Given the description of an element on the screen output the (x, y) to click on. 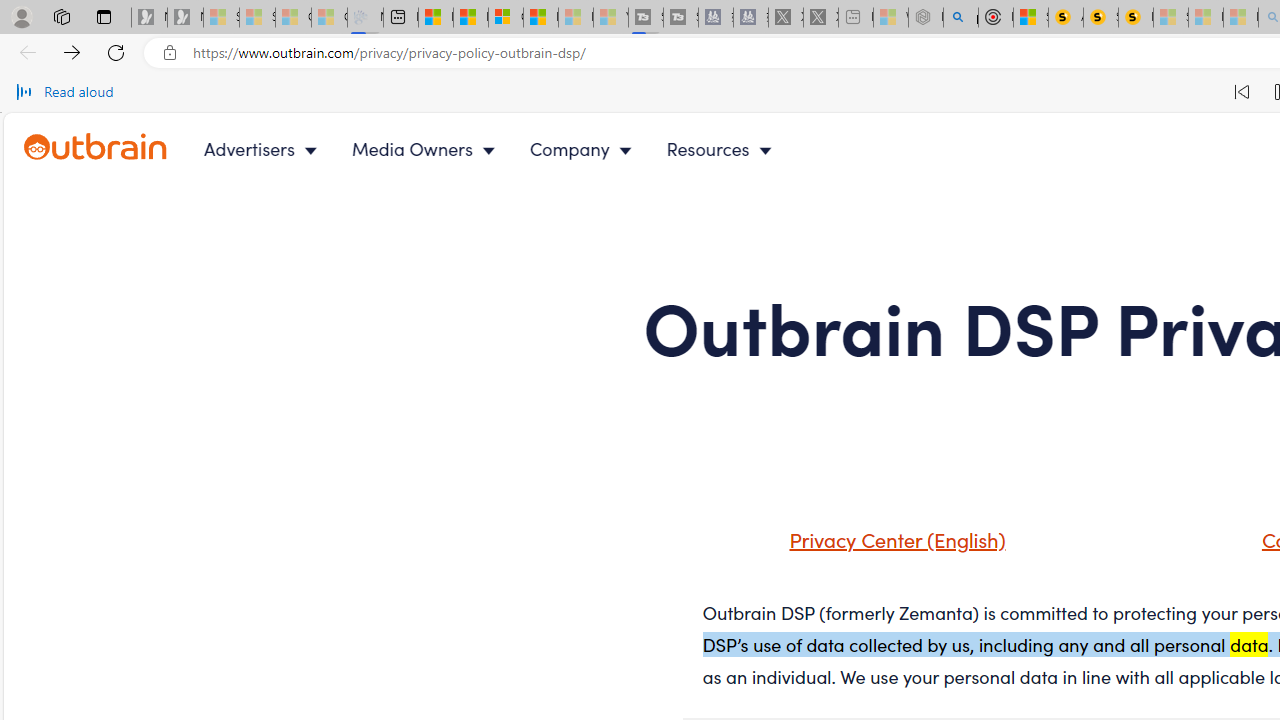
Privacy Center (English) (892, 538)
Outbrain logo - link to homepage (118, 148)
Overview (506, 17)
